Given the description of an element on the screen output the (x, y) to click on. 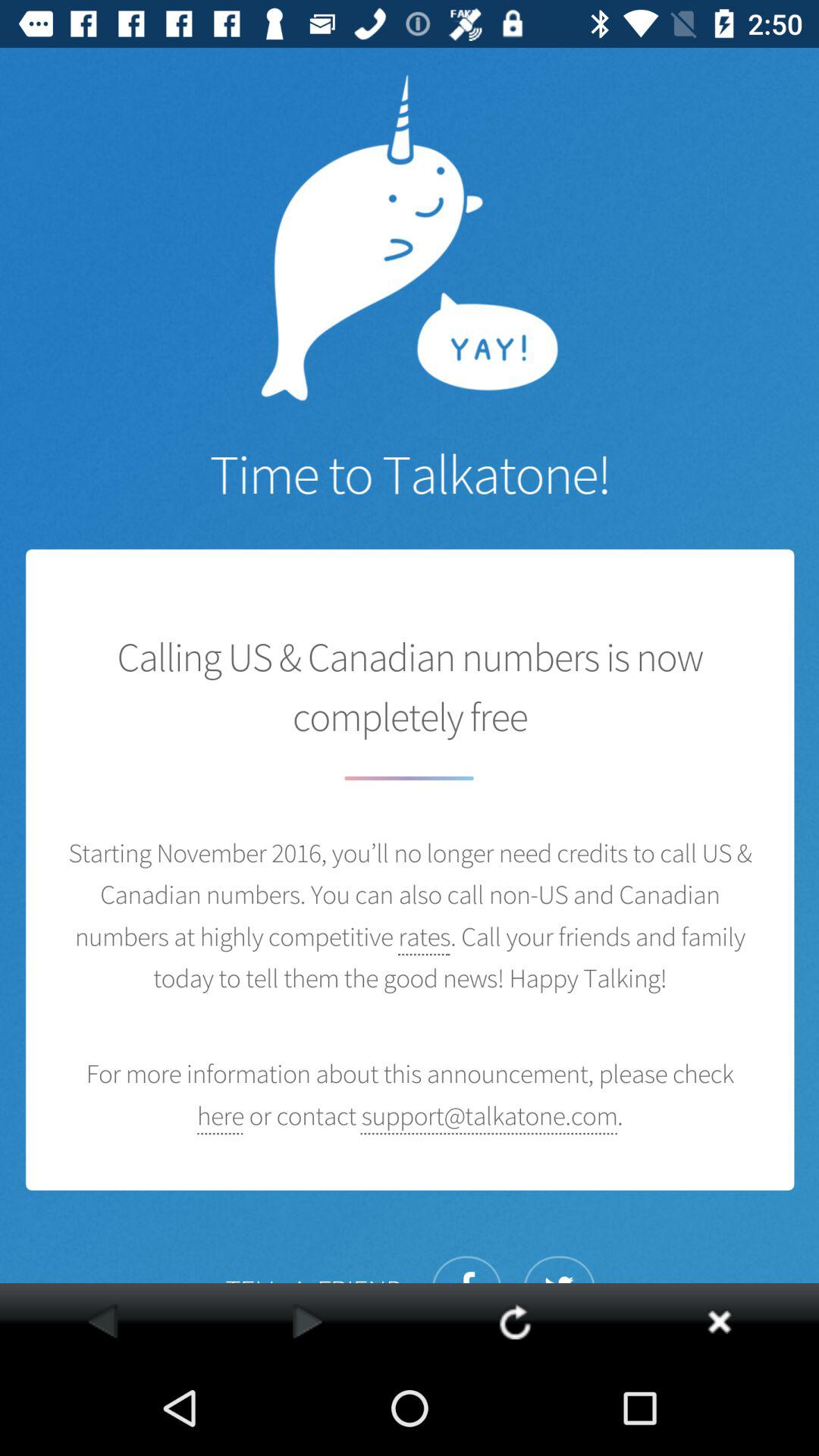
go back (102, 1321)
